Given the description of an element on the screen output the (x, y) to click on. 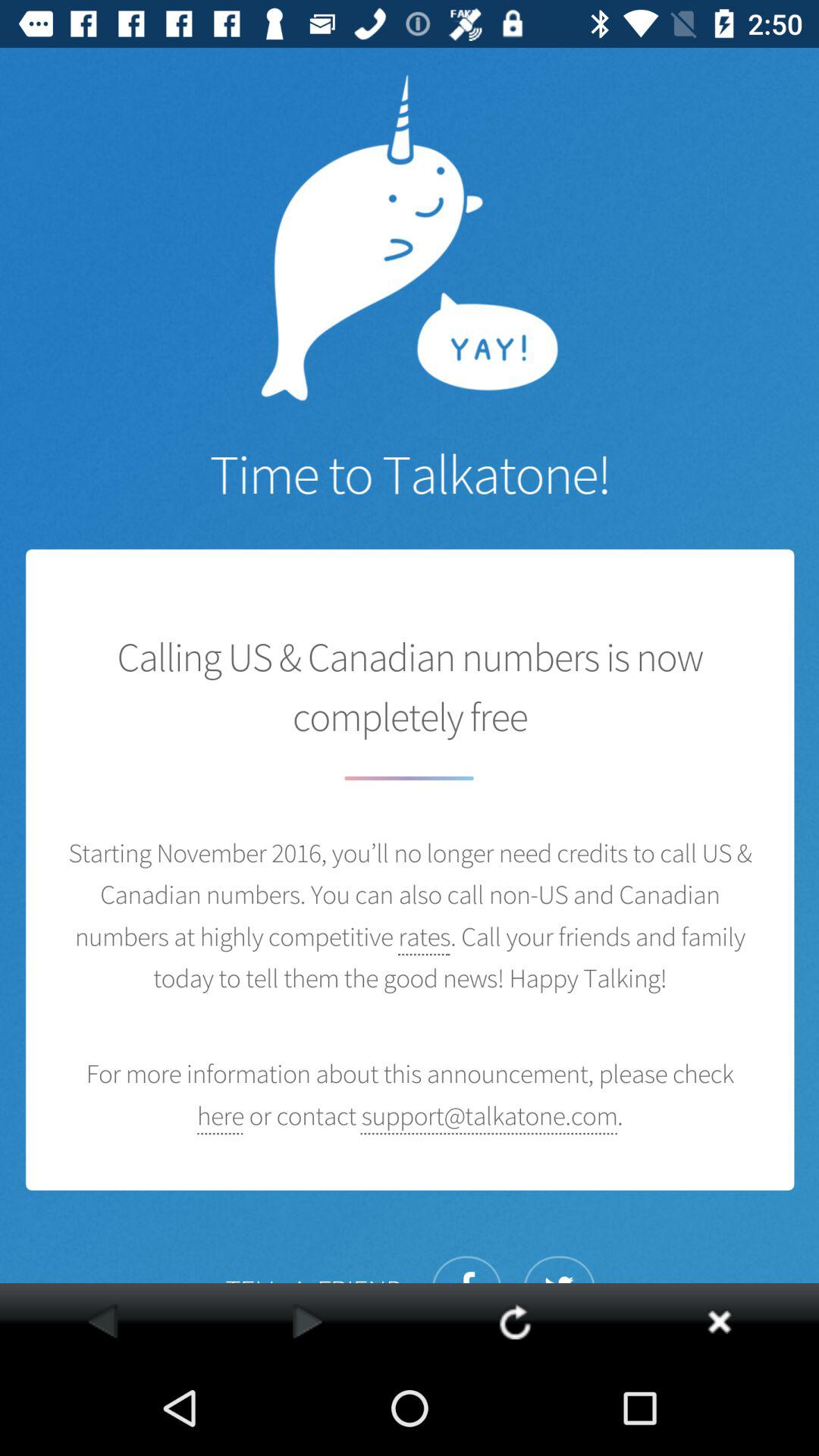
go back (102, 1321)
